Given the description of an element on the screen output the (x, y) to click on. 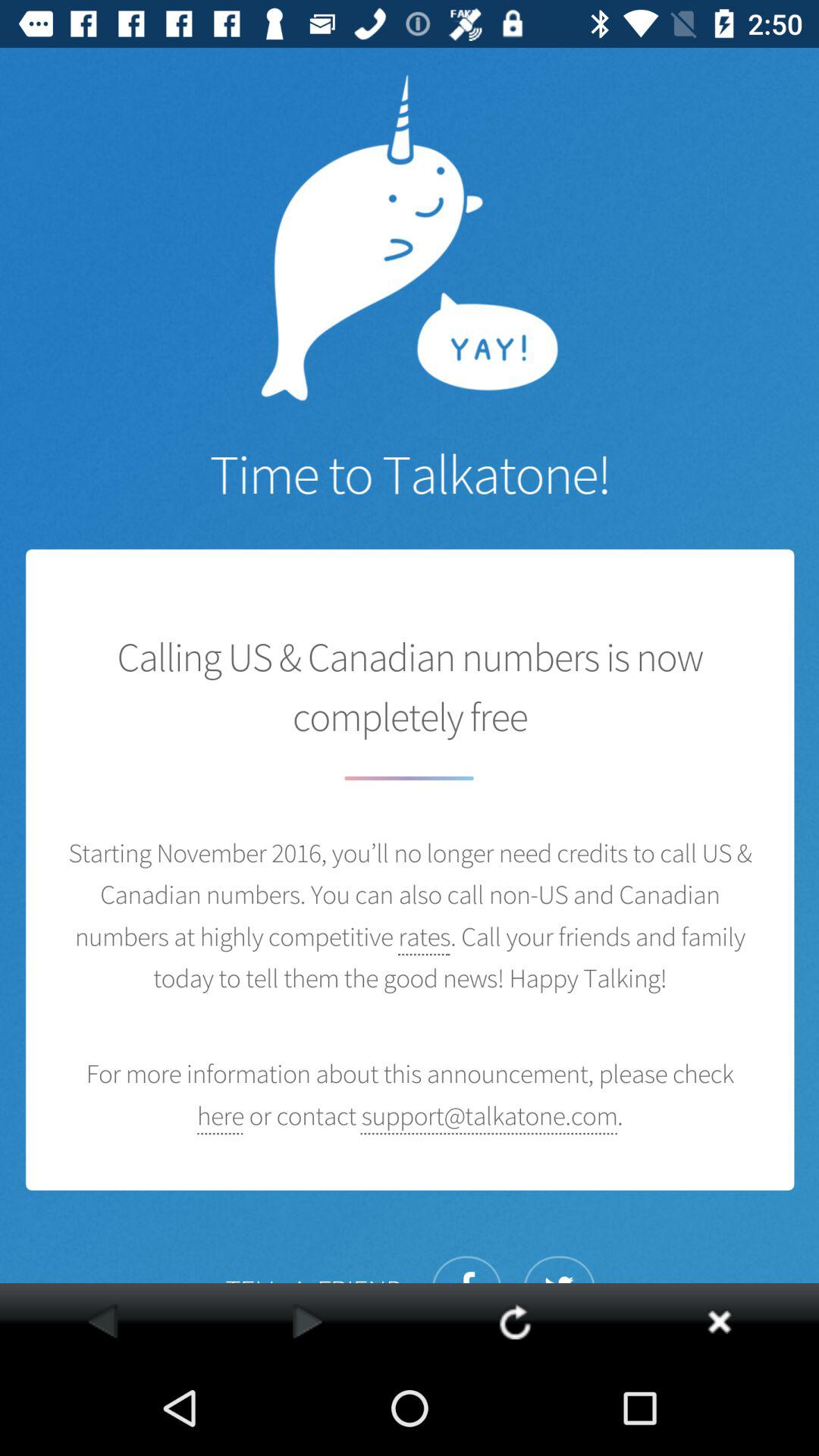
go back (102, 1321)
